Given the description of an element on the screen output the (x, y) to click on. 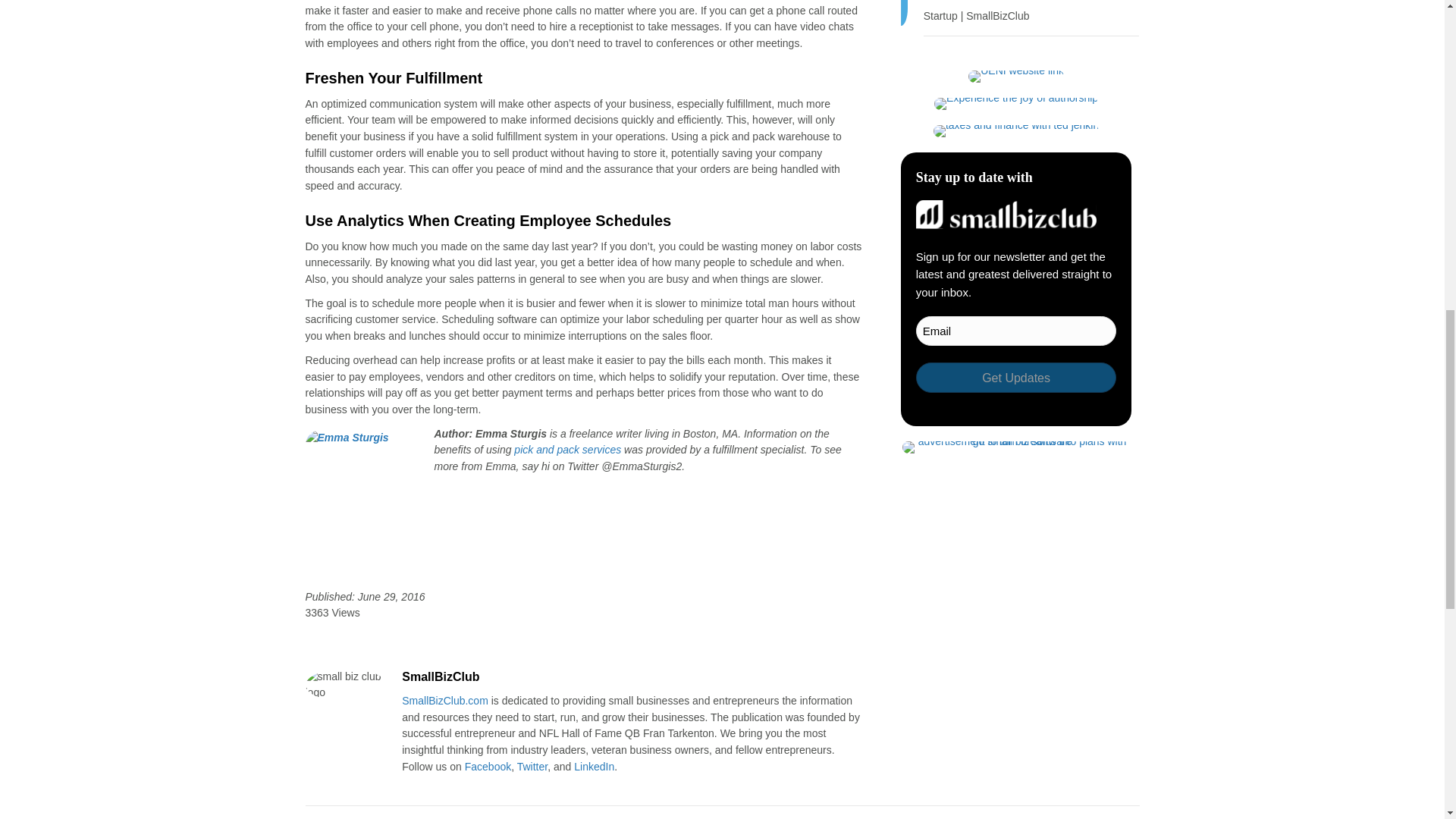
Get Updates (1015, 377)
sbc-sidebar-img-ueni (1016, 76)
Facebook (487, 766)
SmallBizClub.com (444, 700)
sbc-sept-banner-ted-janken-square (1016, 131)
pick and pack services (567, 449)
LinkedIn (593, 766)
IG Post 2 (1015, 103)
Twitter (531, 766)
